Given the description of an element on the screen output the (x, y) to click on. 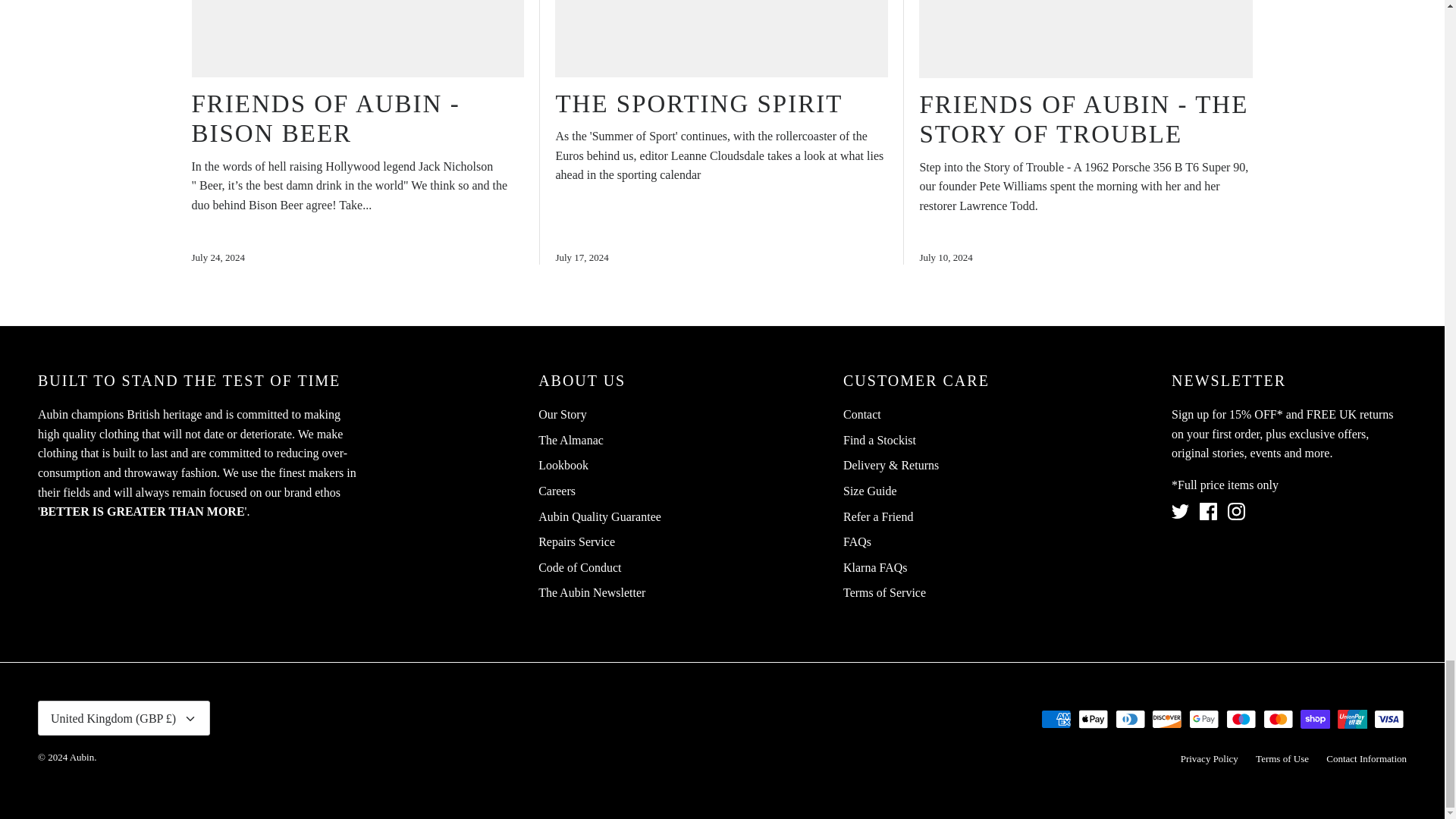
Instagram (1235, 511)
Twitter (1180, 511)
Union Pay (1352, 719)
Down (189, 718)
Discover (1166, 719)
Diners Club (1130, 719)
Google Pay (1203, 719)
Visa (1388, 719)
American Express (1056, 719)
Facebook (1208, 511)
Maestro (1240, 719)
Apple Pay (1093, 719)
Shop Pay (1315, 719)
Mastercard (1277, 719)
